Given the description of an element on the screen output the (x, y) to click on. 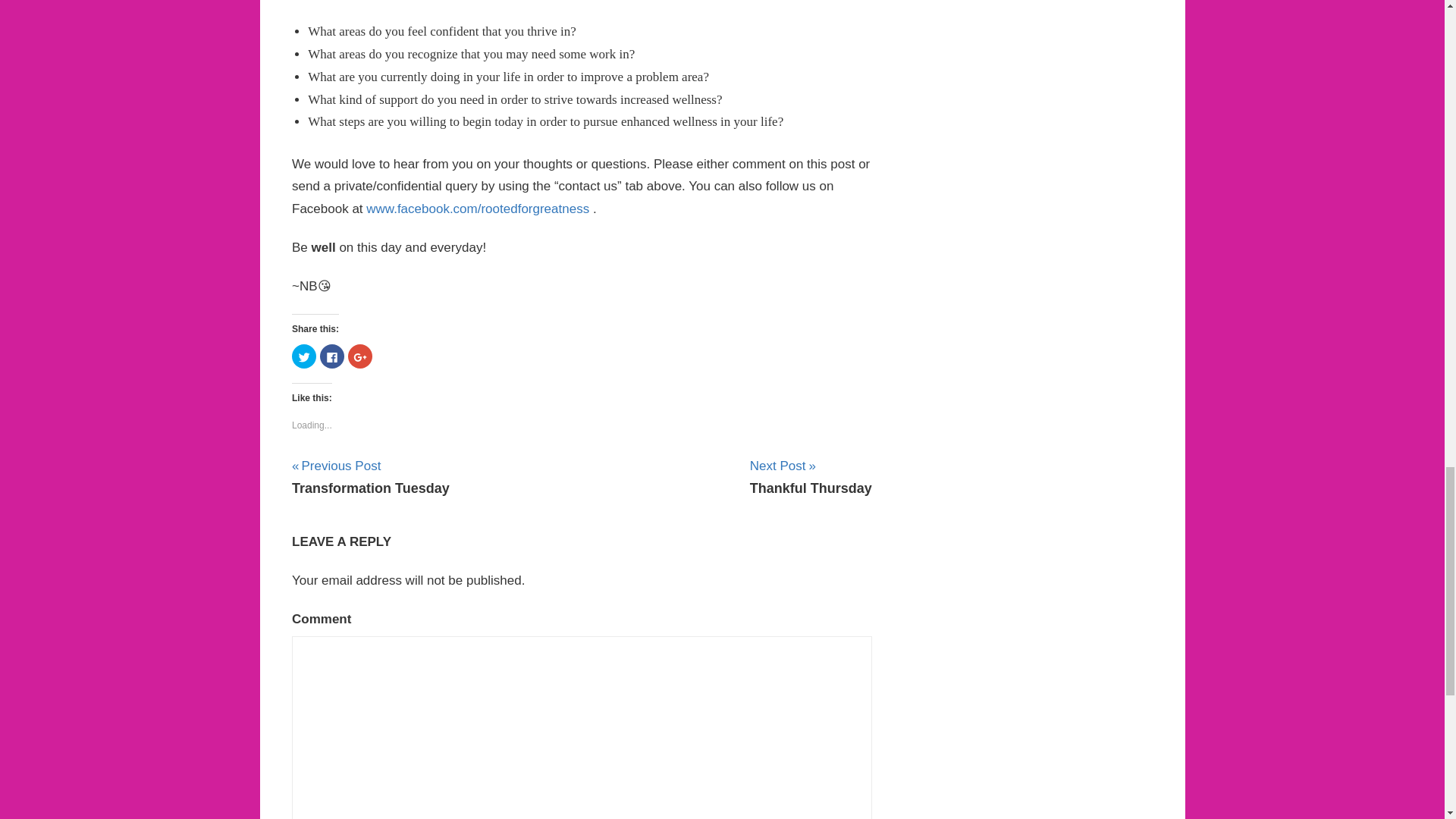
Click to share on Facebook (370, 476)
Click to share on Twitter (331, 355)
